Given the description of an element on the screen output the (x, y) to click on. 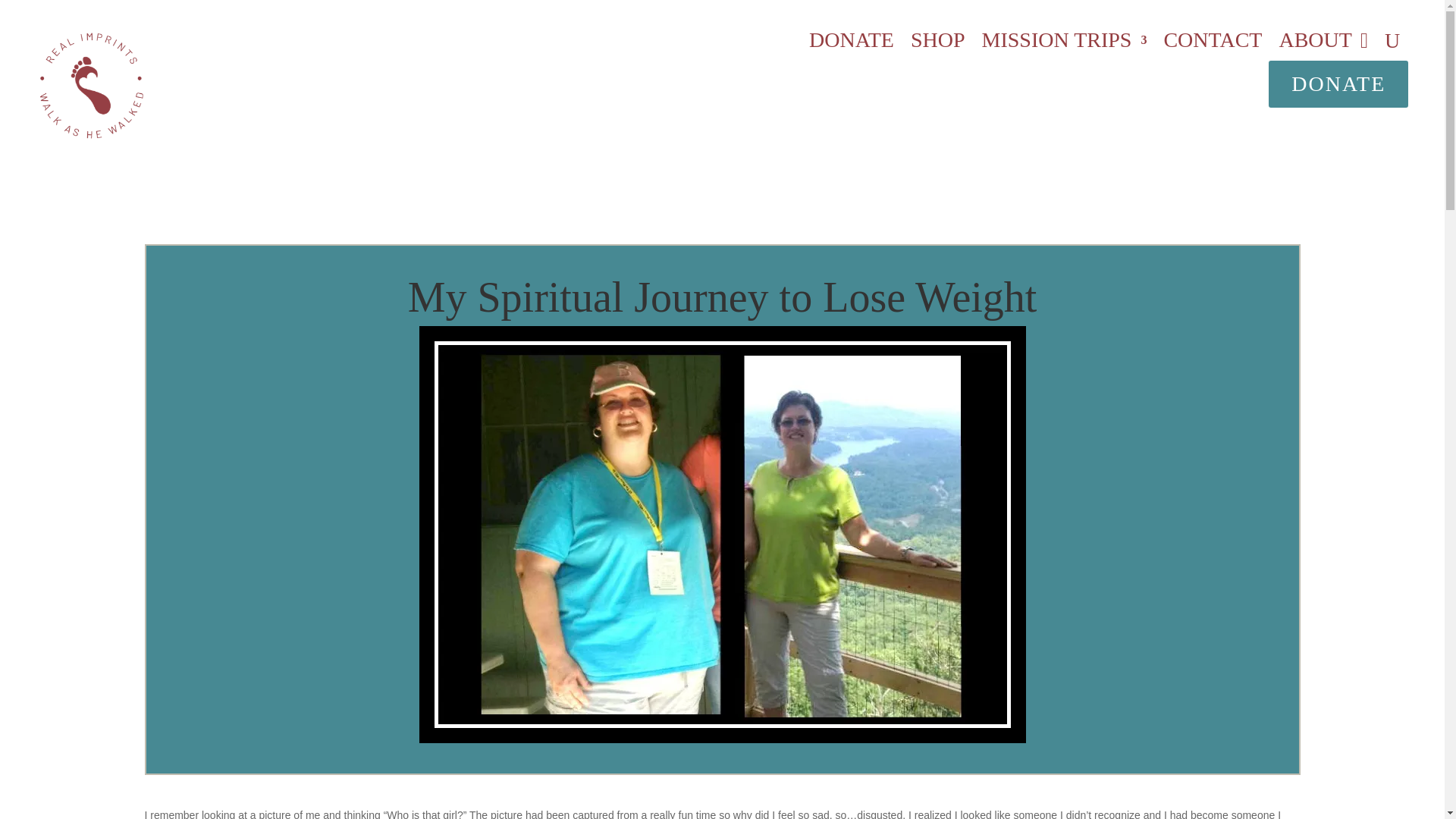
SHOP (938, 44)
ABOUT (1314, 44)
DONATE (1337, 83)
MISSION TRIPS (1064, 44)
CONTACT (1212, 44)
DONATE (851, 44)
RI Logo (92, 85)
